Given the description of an element on the screen output the (x, y) to click on. 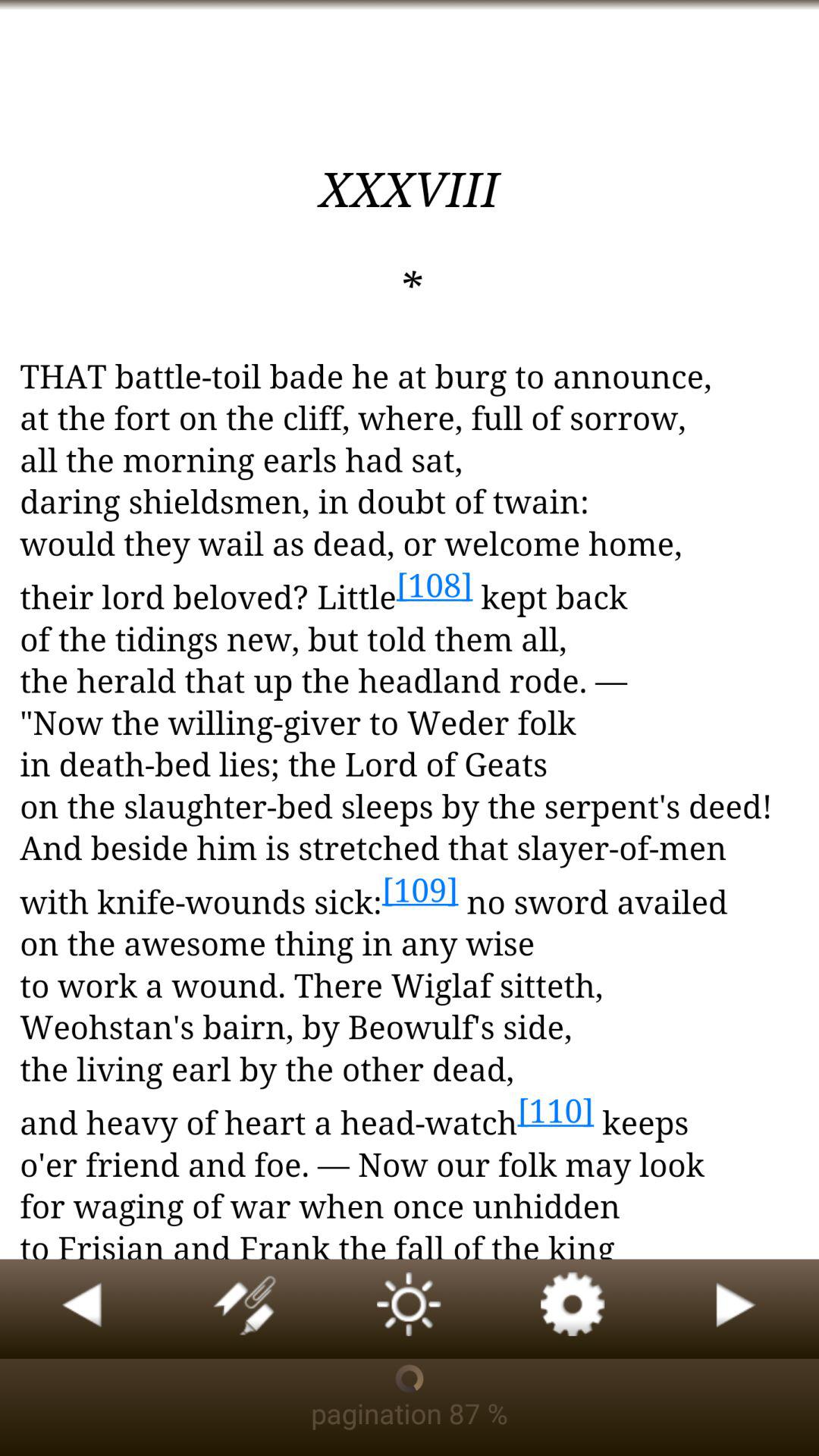
click the settings option (573, 1308)
